Given the description of an element on the screen output the (x, y) to click on. 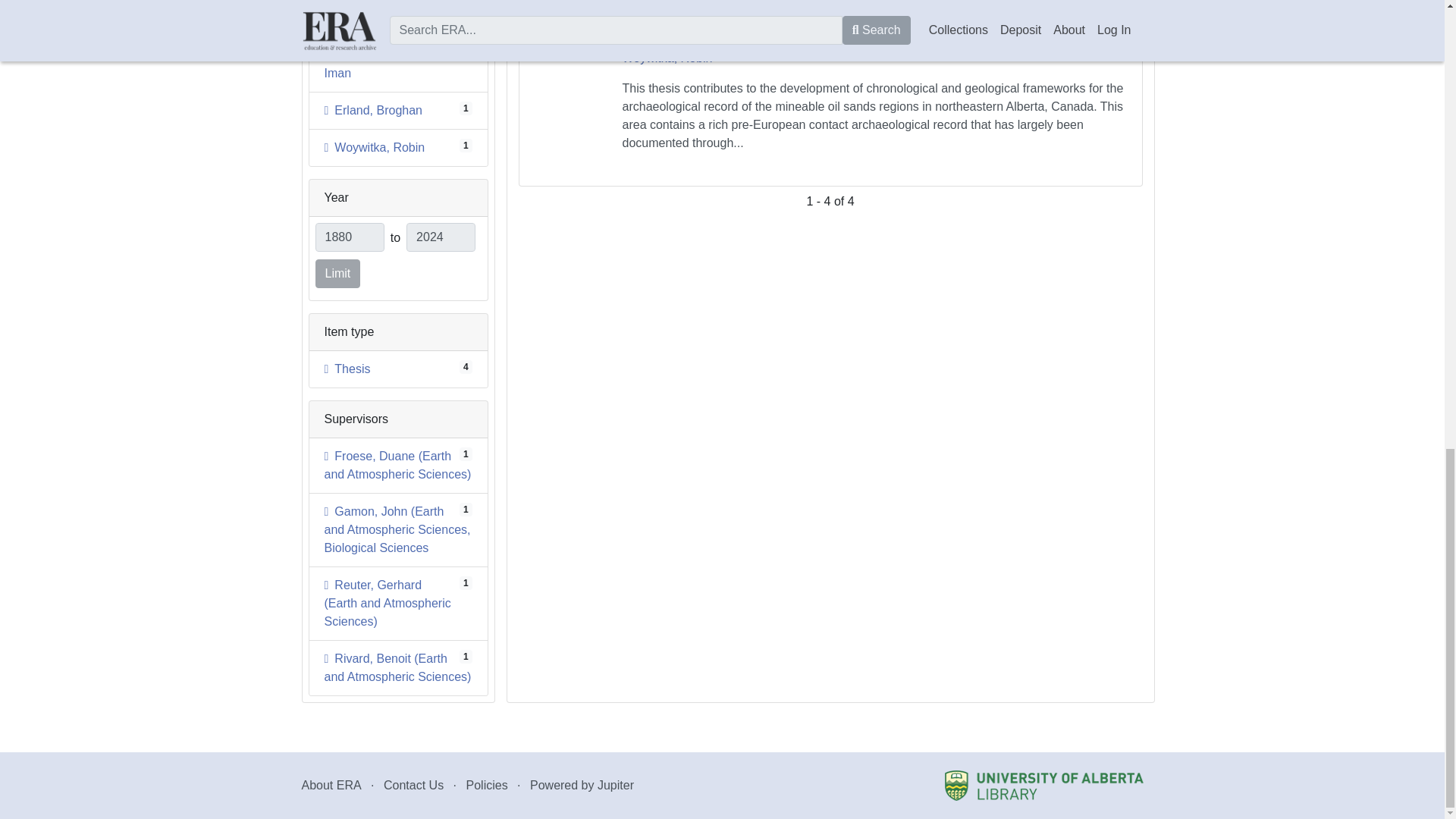
Limit (374, 146)
2024 (384, 63)
Limit (338, 273)
1880 (441, 236)
